Given the description of an element on the screen output the (x, y) to click on. 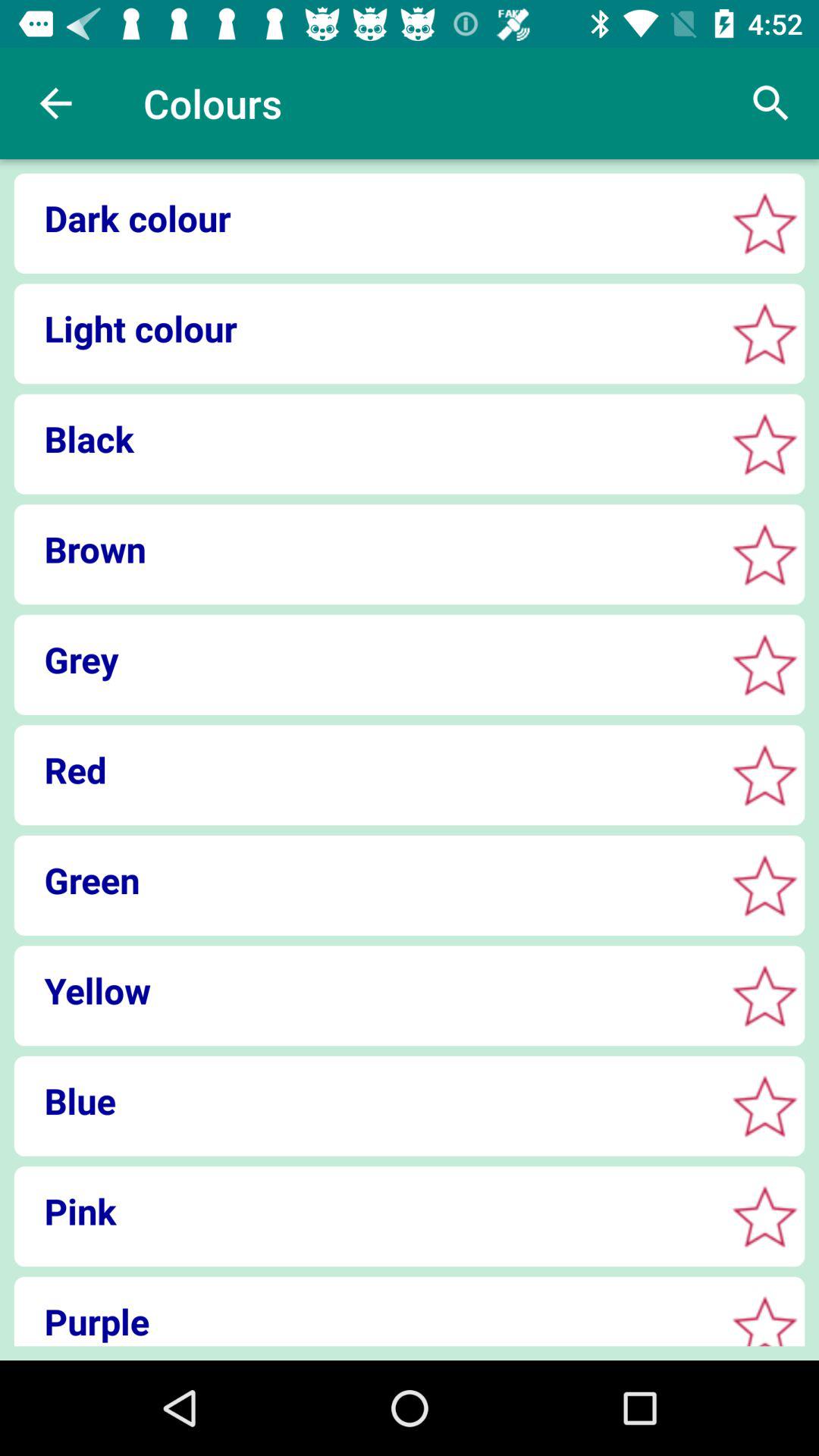
launch the icon to the right of colours (771, 103)
